Given the description of an element on the screen output the (x, y) to click on. 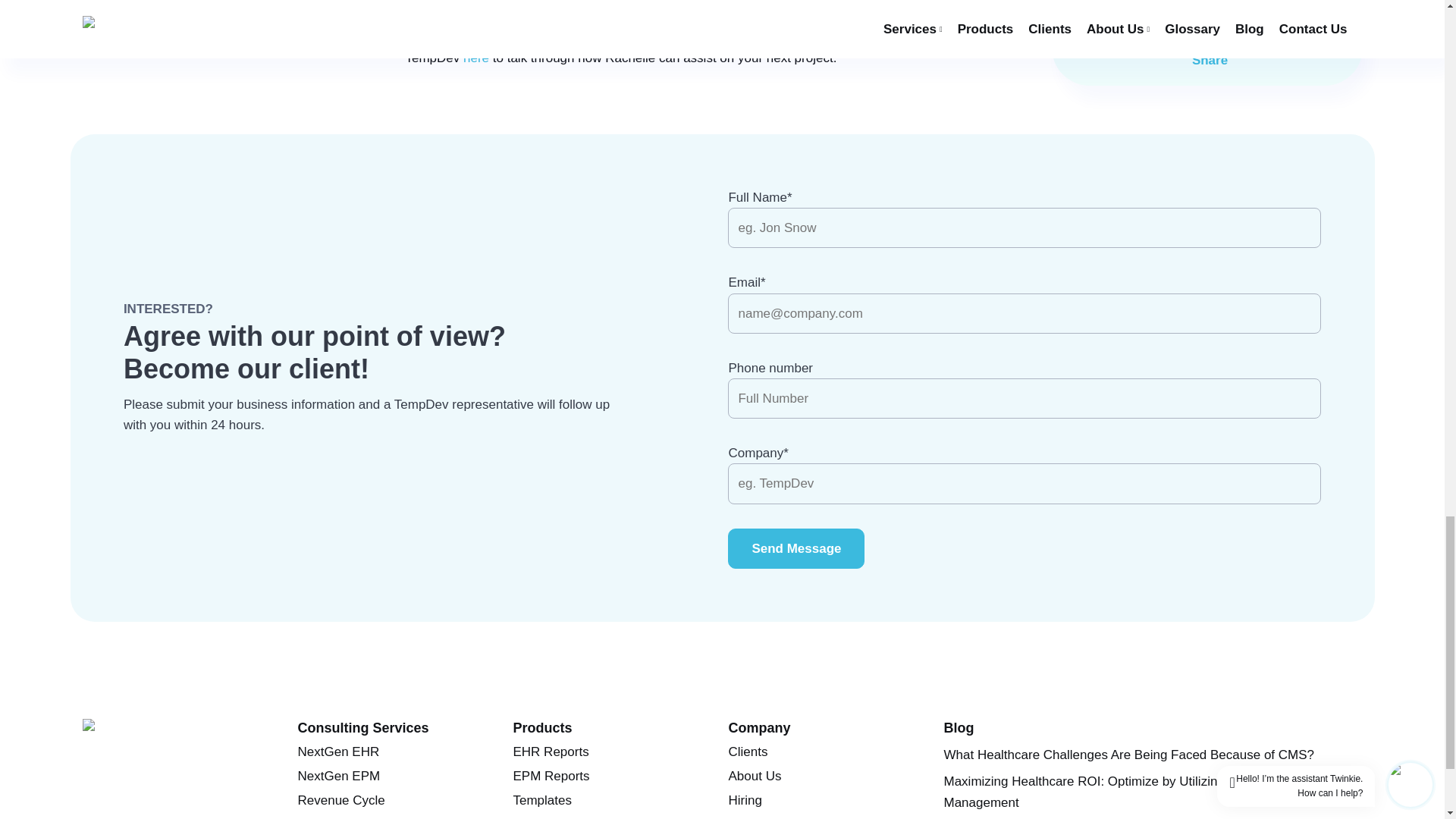
Send Message (796, 548)
NextGen EHR (337, 751)
here (476, 57)
